Given the description of an element on the screen output the (x, y) to click on. 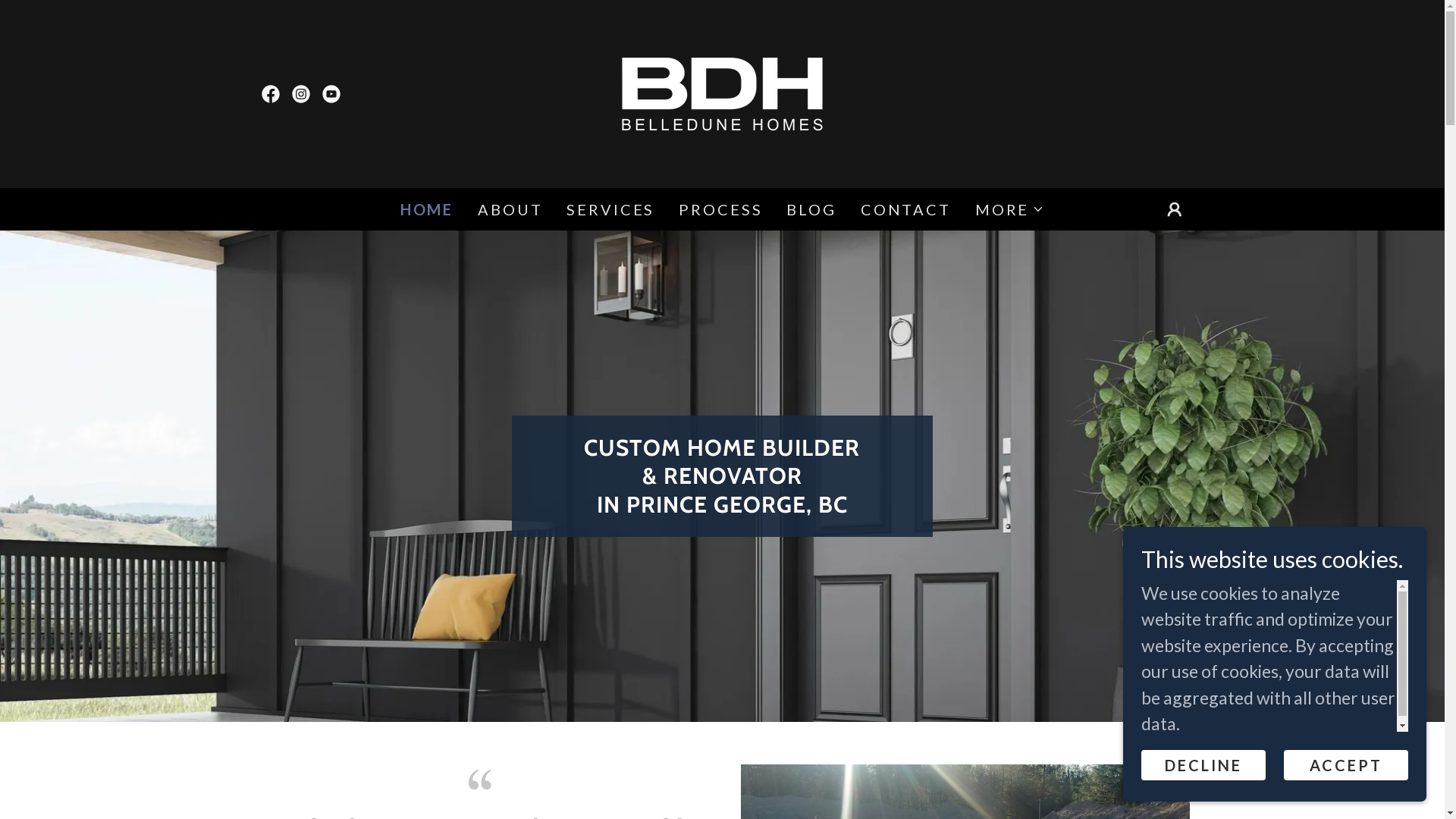
ACCEPT Element type: text (1345, 764)
PROCESS Element type: text (720, 208)
CONTACT Element type: text (905, 208)
The Loft Construction Services Element type: hover (722, 91)
MORE Element type: text (1009, 209)
HOME Element type: text (426, 209)
ABOUT Element type: text (509, 208)
SERVICES Element type: text (609, 208)
BLOG Element type: text (810, 208)
DECLINE Element type: text (1203, 764)
